Given the description of an element on the screen output the (x, y) to click on. 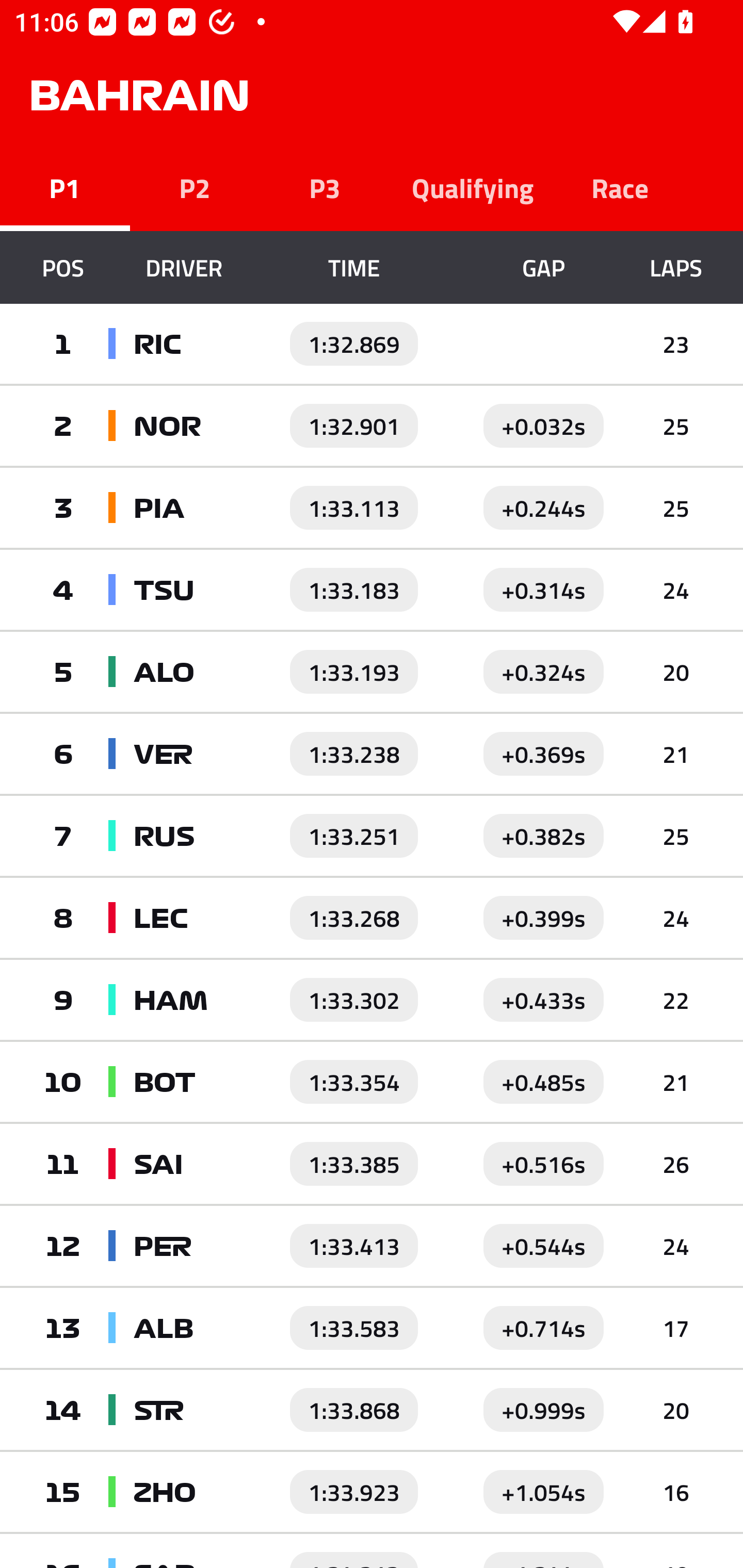
P2 (195, 187)
P3 (325, 187)
Qualifying (472, 187)
Race (620, 187)
